Given the description of an element on the screen output the (x, y) to click on. 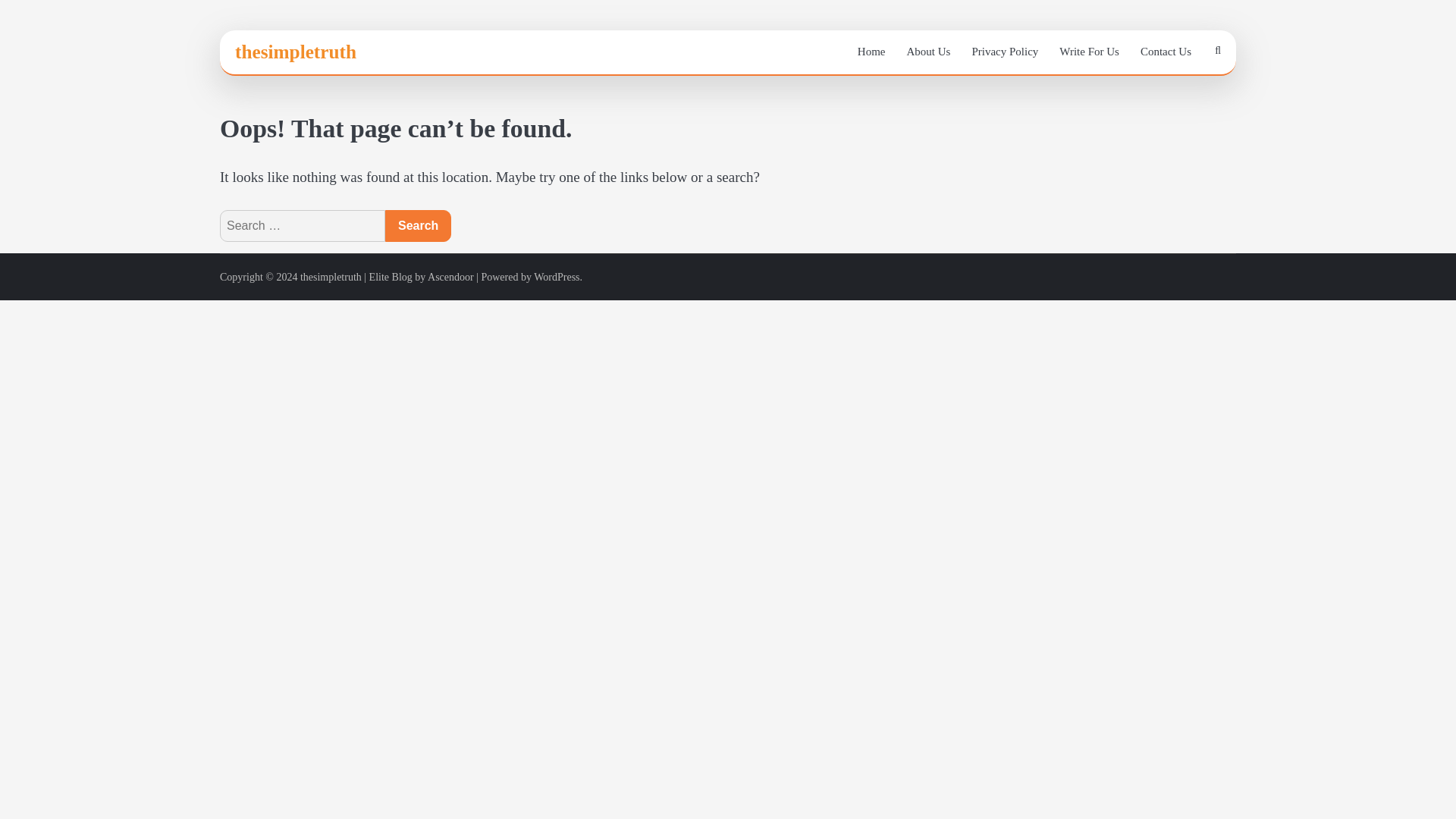
Write For Us (1088, 51)
Search (418, 225)
Contact Us (1165, 51)
About Us (928, 51)
Search (418, 225)
thesimpletruth (295, 51)
Home (871, 51)
Privacy Policy (1004, 51)
Search (1182, 93)
Search (418, 225)
